Given the description of an element on the screen output the (x, y) to click on. 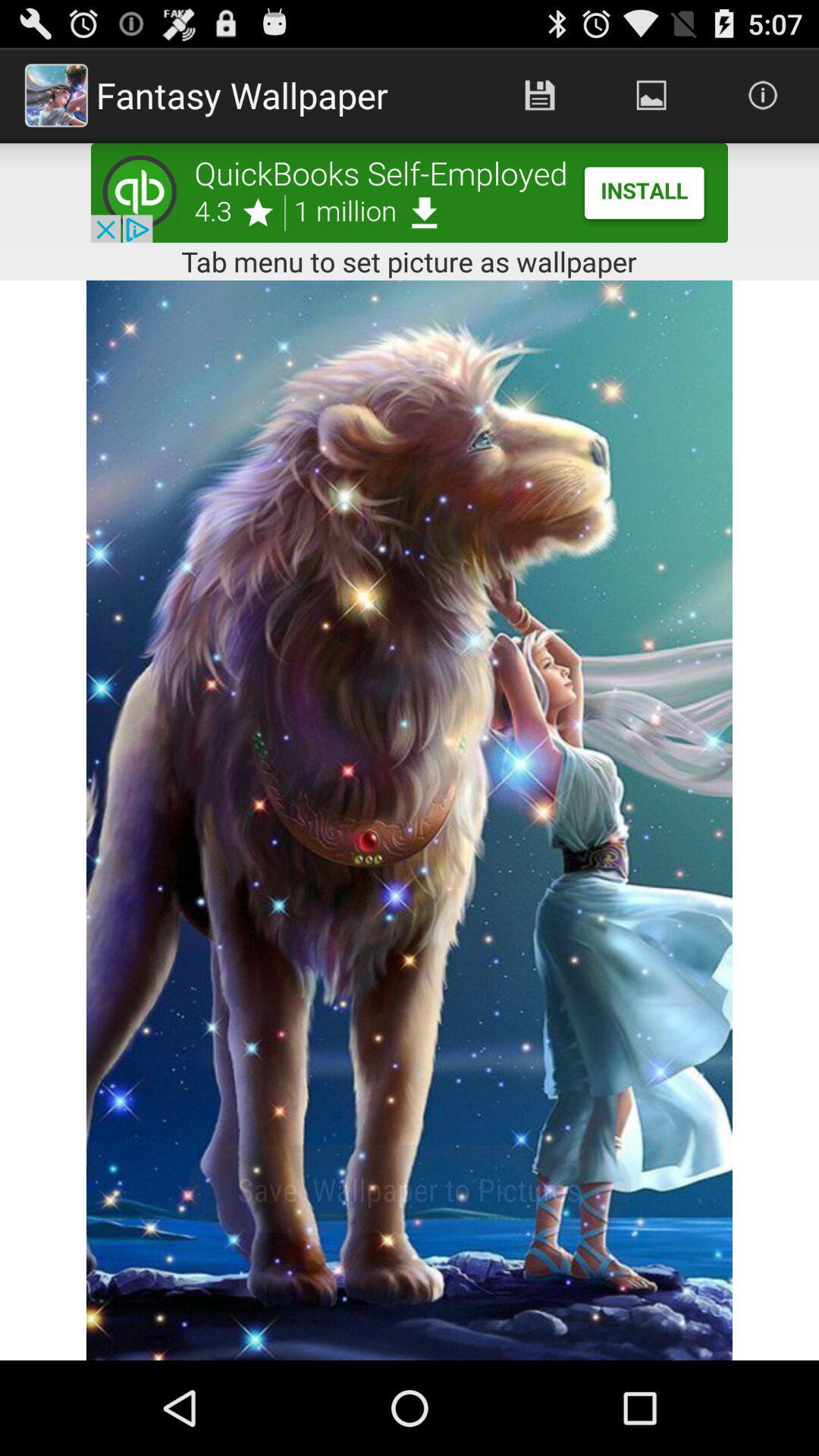
advertisement page (409, 192)
